Given the description of an element on the screen output the (x, y) to click on. 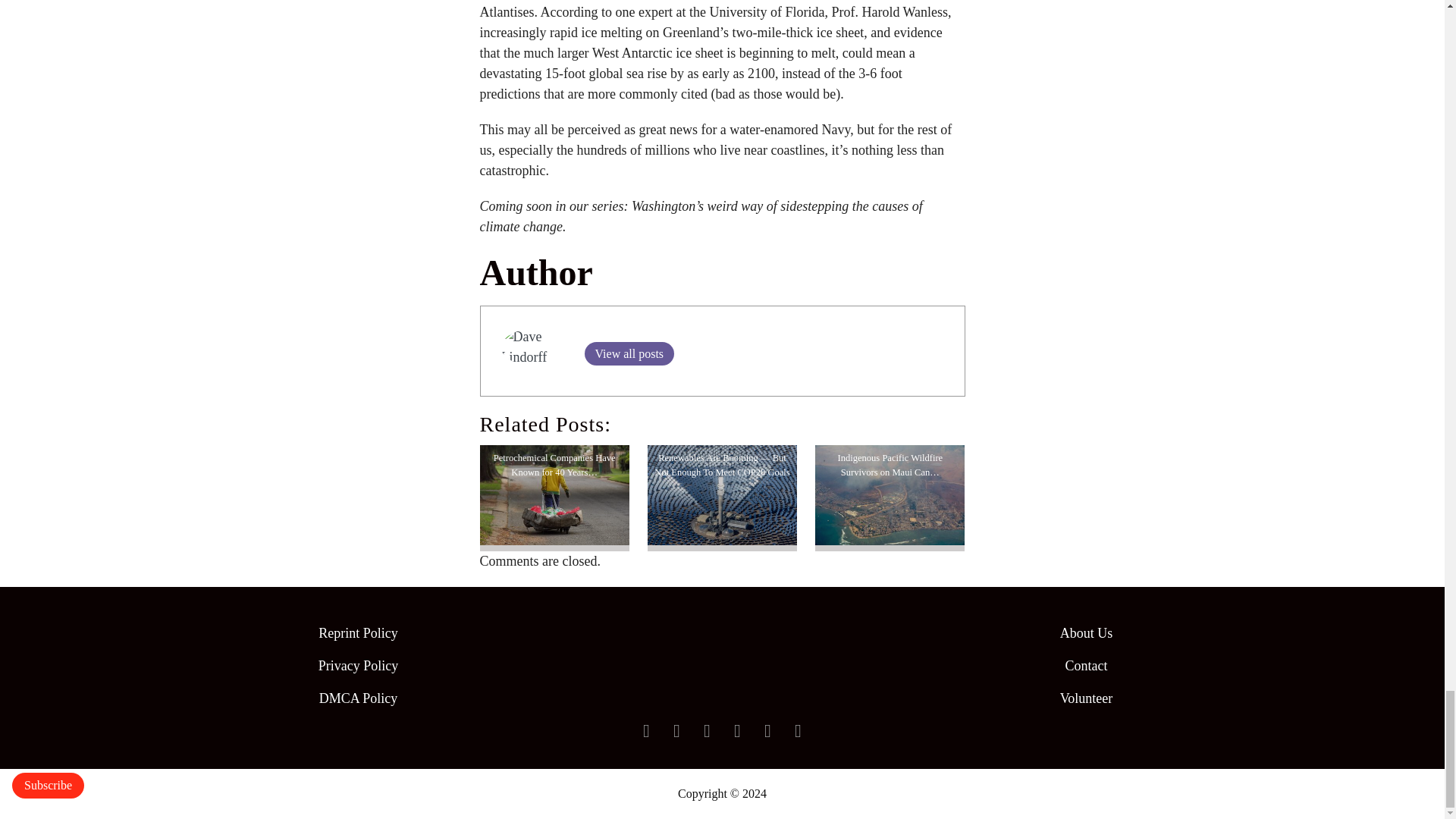
View all posts (628, 353)
